Given the description of an element on the screen output the (x, y) to click on. 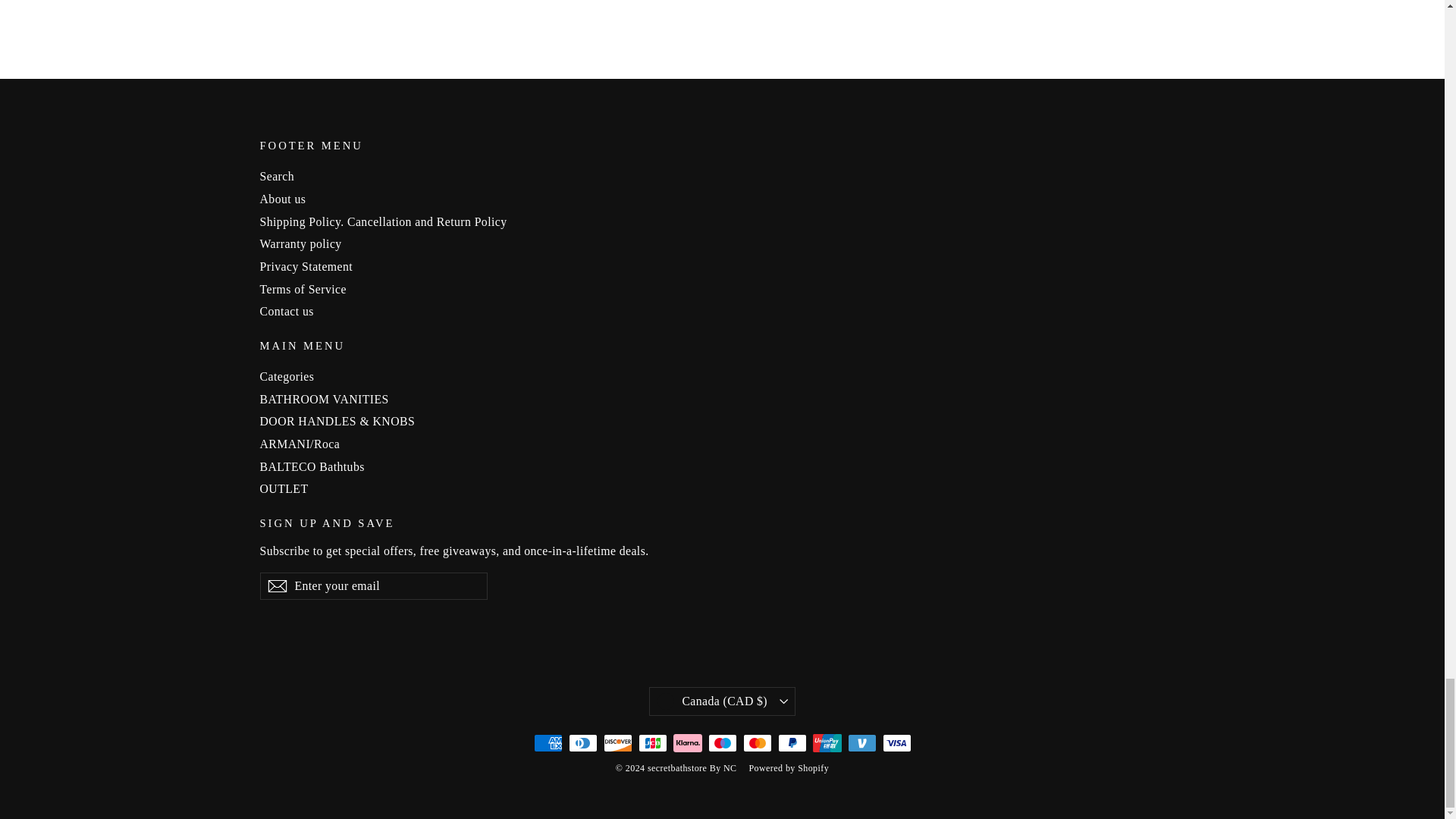
Maestro (721, 742)
PayPal (791, 742)
Mastercard (756, 742)
Visa (896, 742)
Discover (617, 742)
Venmo (861, 742)
icon-email (276, 586)
Klarna (686, 742)
Diners Club (582, 742)
Union Pay (826, 742)
